Given the description of an element on the screen output the (x, y) to click on. 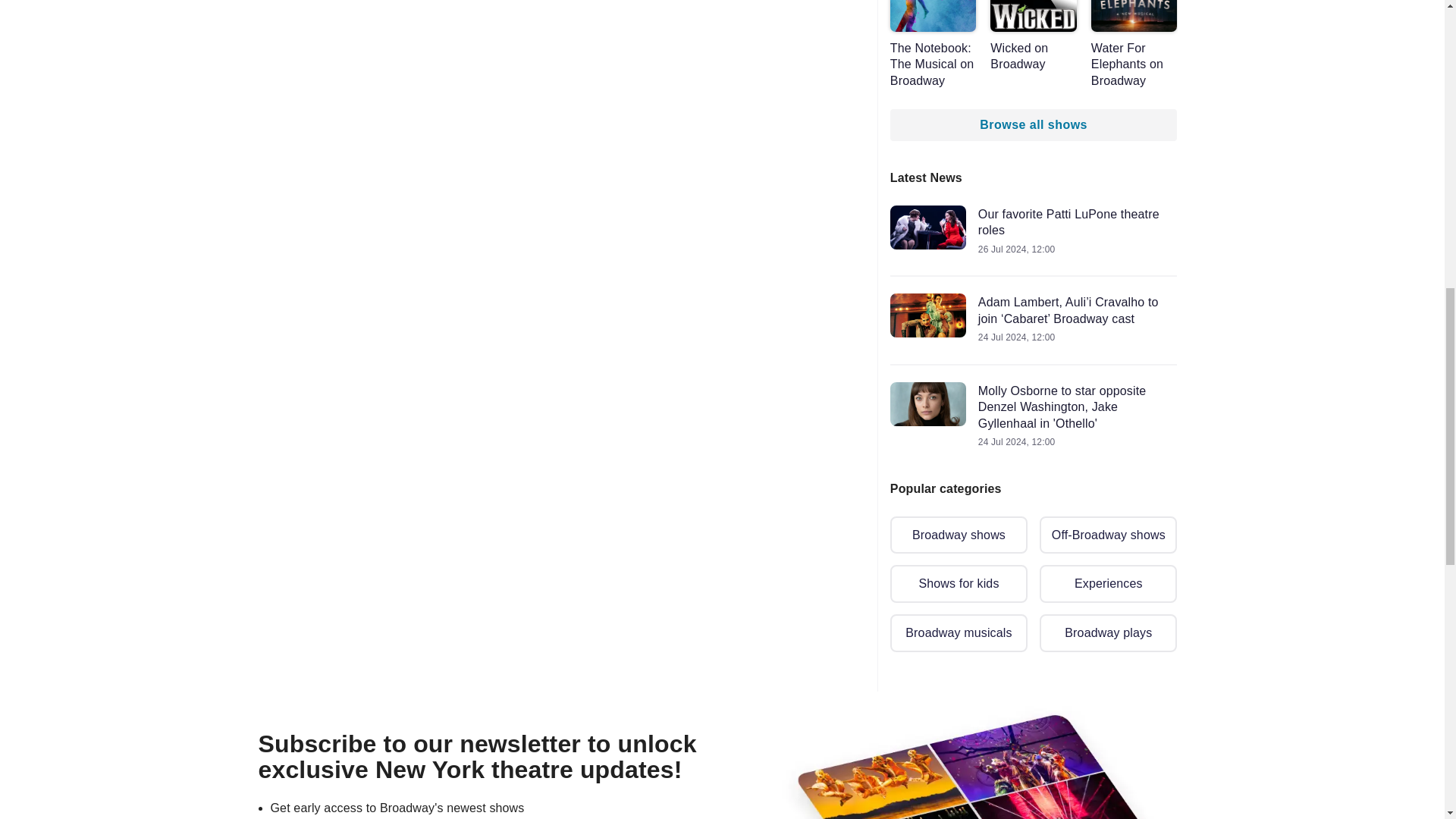
Read more about Water For Elephants on Broadway (1133, 44)
Read more about The Notebook: The Musical on Broadway (932, 44)
Read more about Wicked on Broadway (1033, 36)
